Given the description of an element on the screen output the (x, y) to click on. 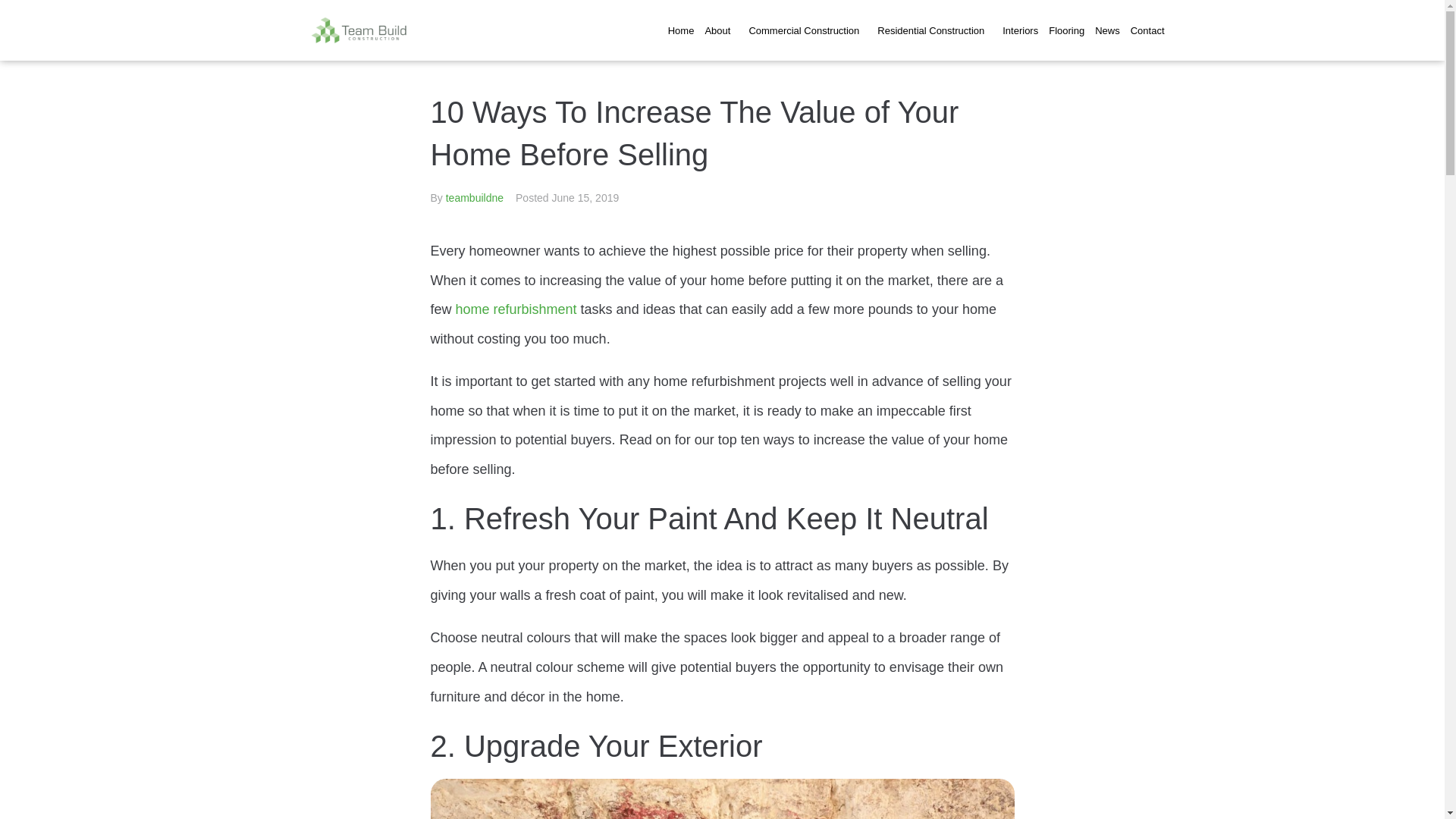
News (1107, 29)
Interiors (1020, 29)
Residential Construction (934, 29)
Home (681, 29)
Flooring (1066, 29)
Commercial Construction (807, 29)
About (720, 29)
